Given the description of an element on the screen output the (x, y) to click on. 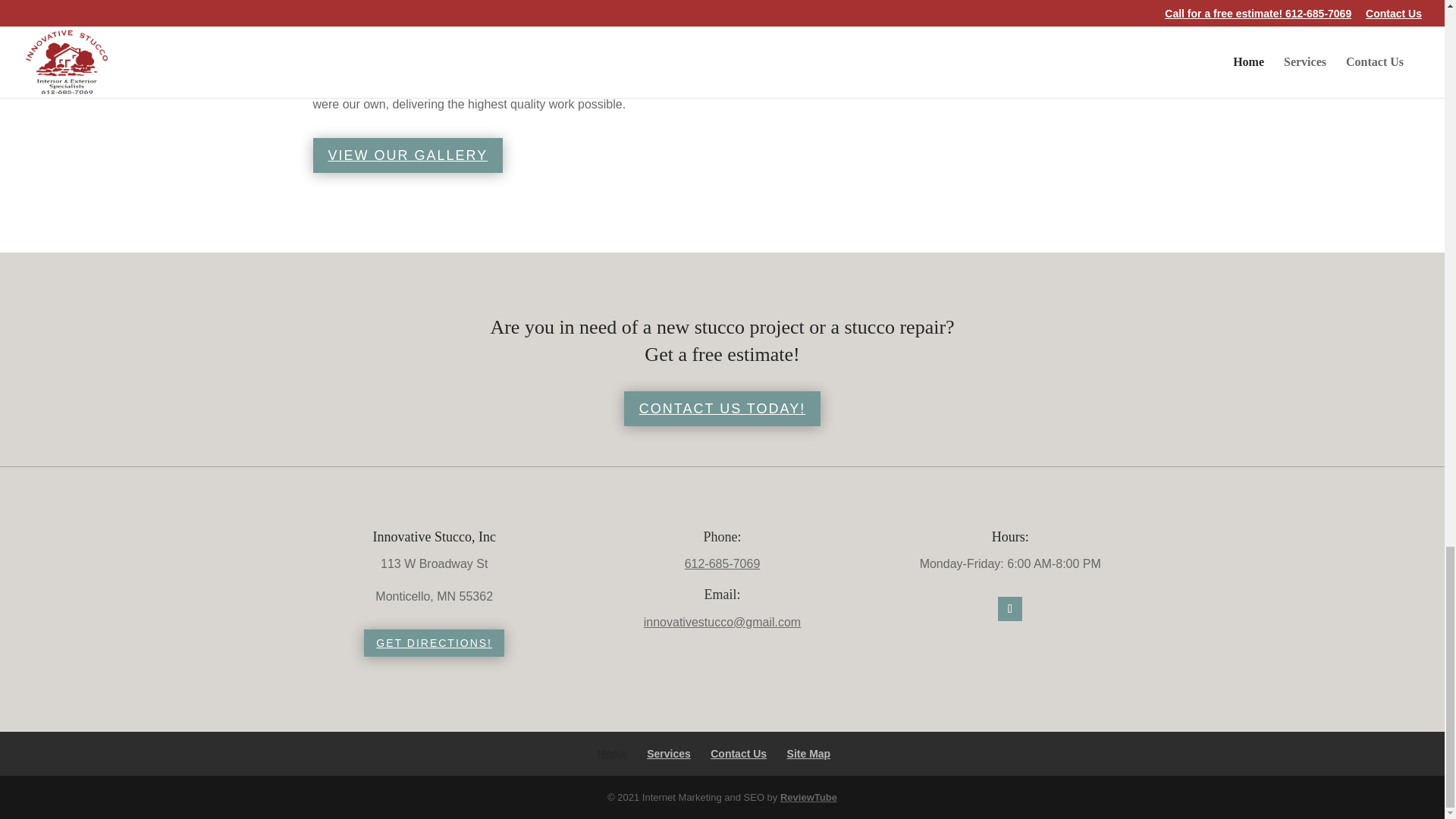
Contact Us (738, 753)
Services (668, 753)
ReviewTube (808, 797)
GET DIRECTIONS! (433, 642)
CONTACT US TODAY! (722, 408)
Site Map (809, 753)
Follow on Facebook (1009, 608)
612-685-7069 (722, 563)
Home (611, 753)
VIEW OUR GALLERY (407, 154)
